Given the description of an element on the screen output the (x, y) to click on. 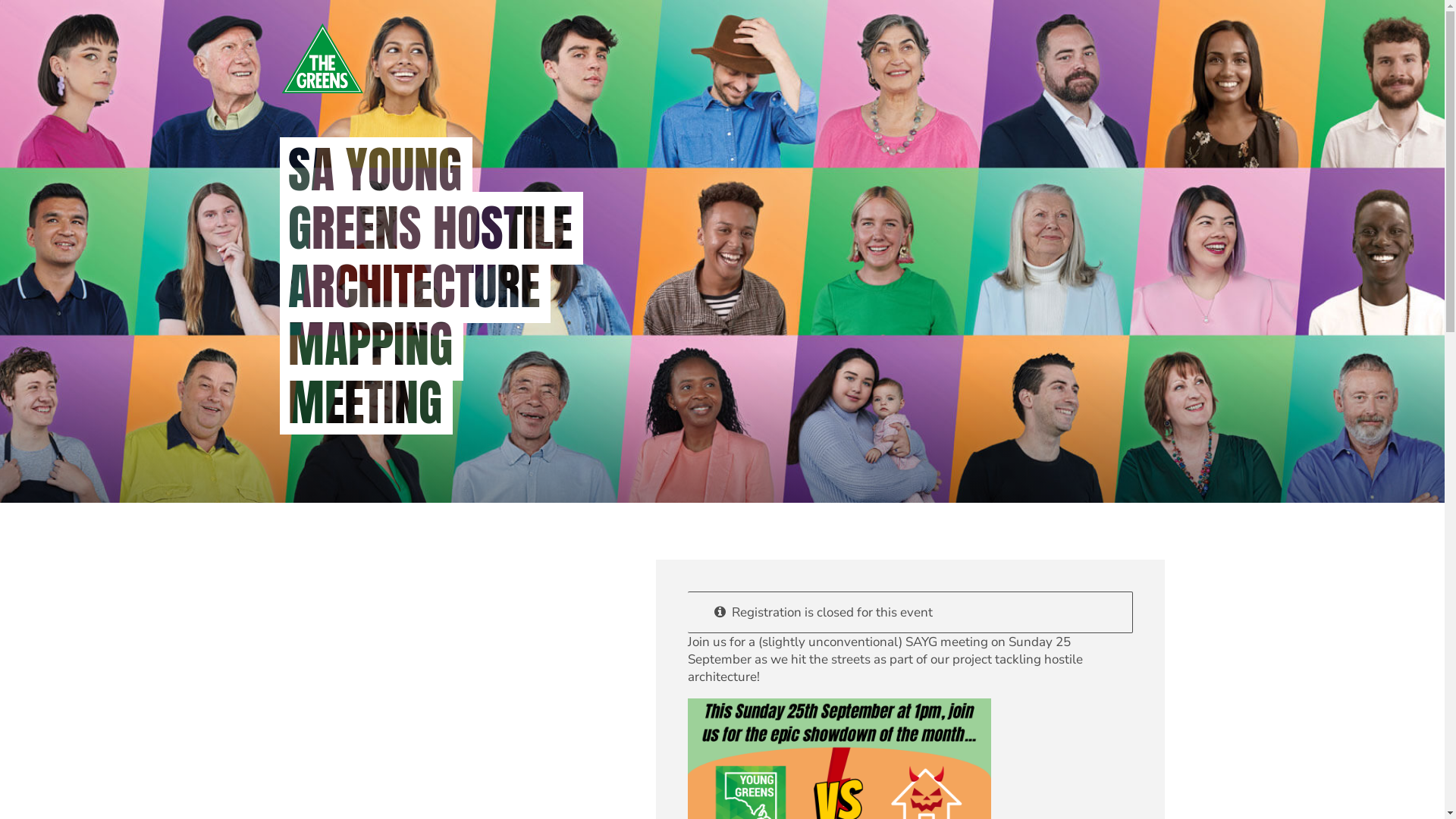
Skip to main content Element type: text (0, 0)
